Given the description of an element on the screen output the (x, y) to click on. 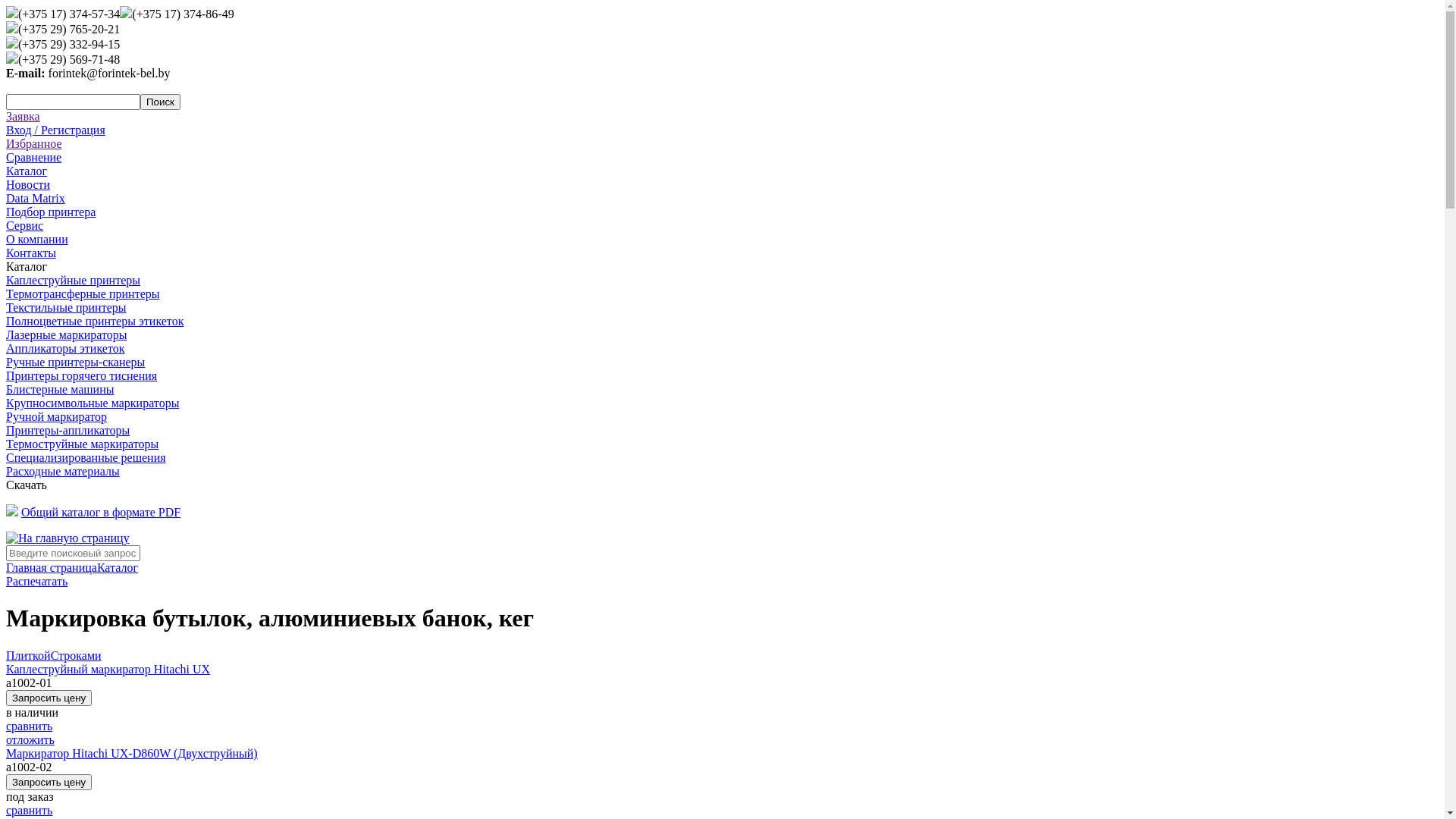
Data Matrix Element type: text (35, 197)
